Given the description of an element on the screen output the (x, y) to click on. 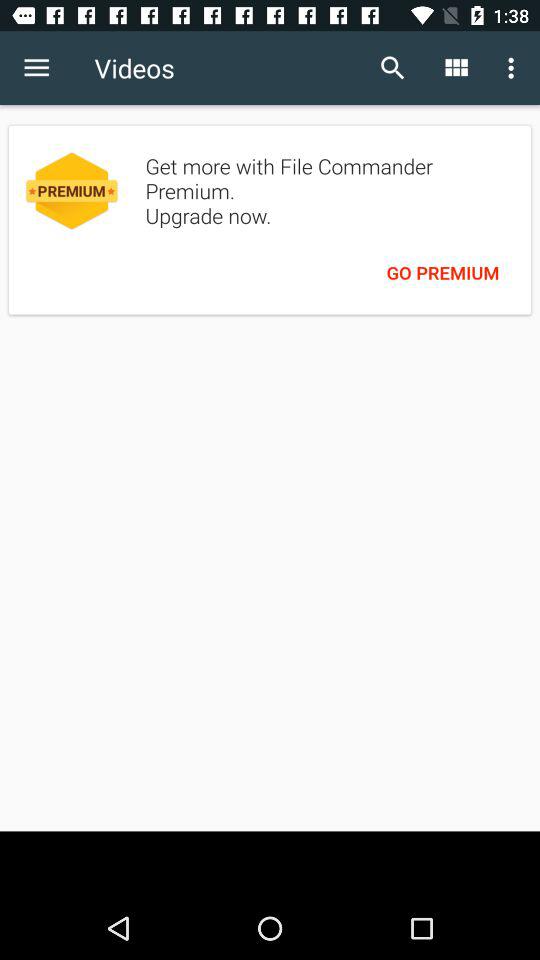
launch the item next to videos item (36, 68)
